Given the description of an element on the screen output the (x, y) to click on. 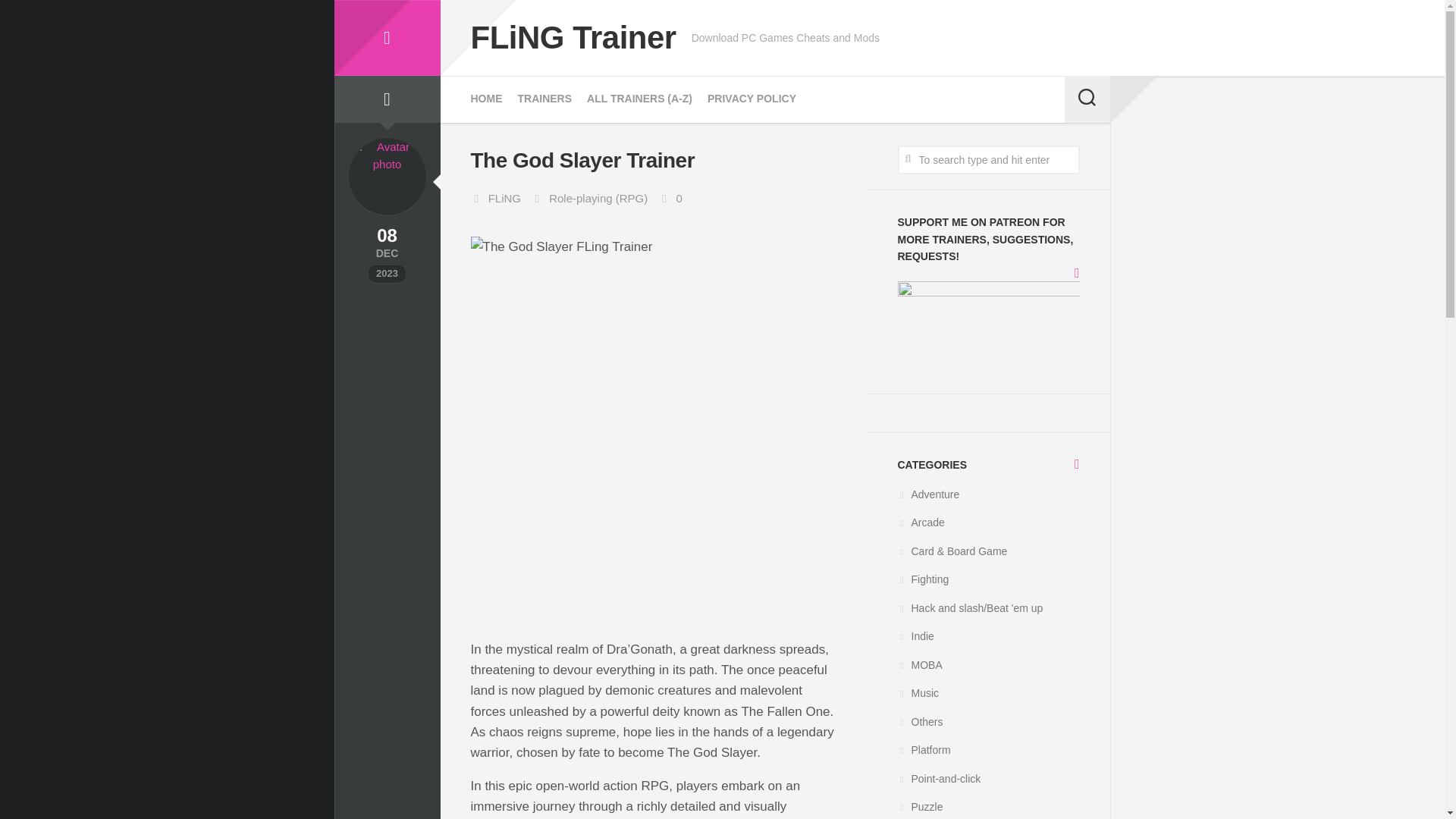
Fighting (923, 579)
To search type and hit enter (989, 159)
FLiNG Trainer (572, 37)
Posts by FLiNG (504, 197)
PRIVACY POLICY (751, 98)
Others (920, 721)
Arcade (921, 522)
Adventure (928, 494)
To search type and hit enter (989, 159)
Platform (924, 749)
HOME (486, 98)
FLiNG (504, 197)
MOBA (920, 664)
Music (918, 693)
TRAINERS (544, 98)
